Given the description of an element on the screen output the (x, y) to click on. 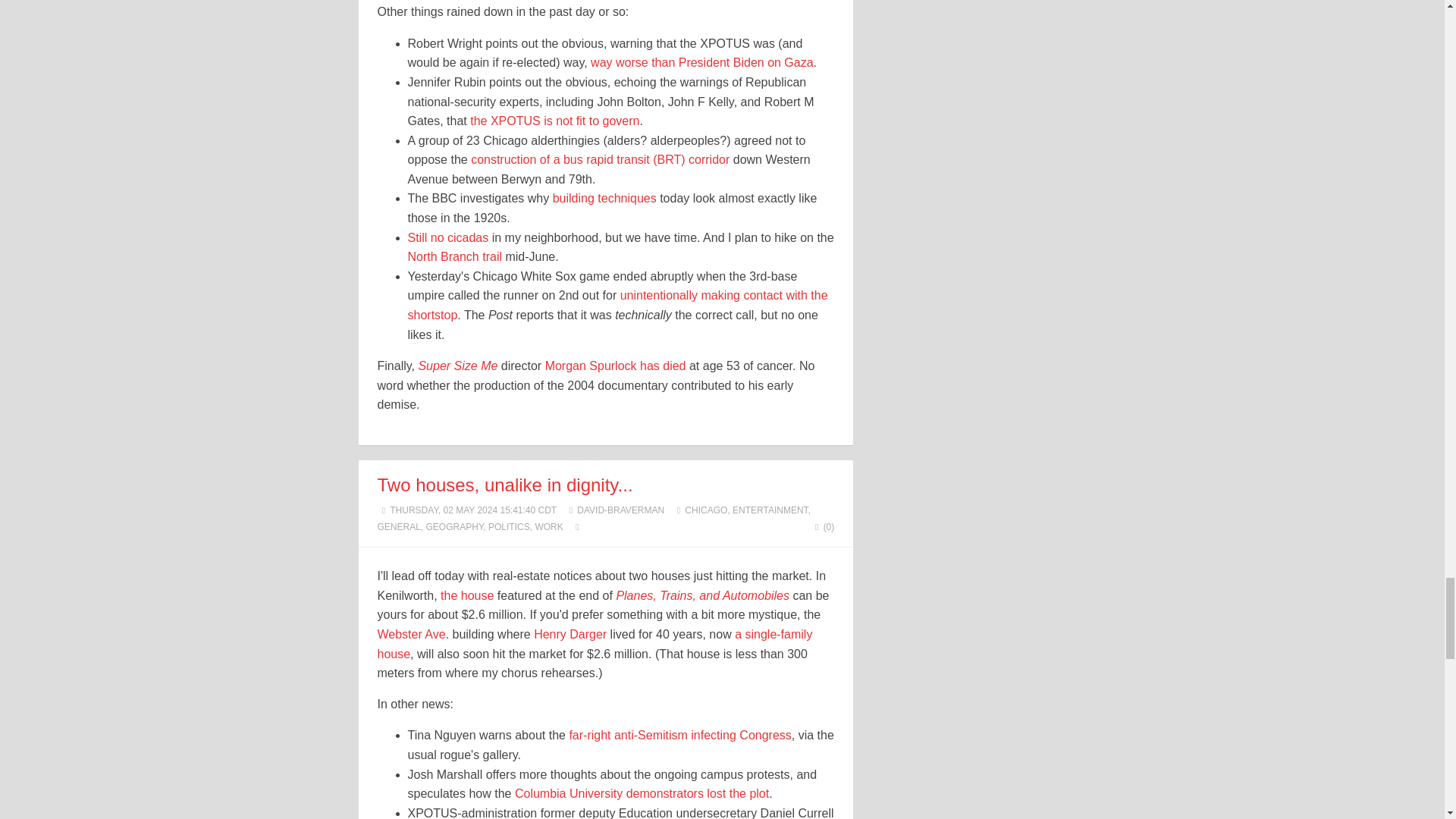
Open a map of the location where this post was written (576, 526)
